Given the description of an element on the screen output the (x, y) to click on. 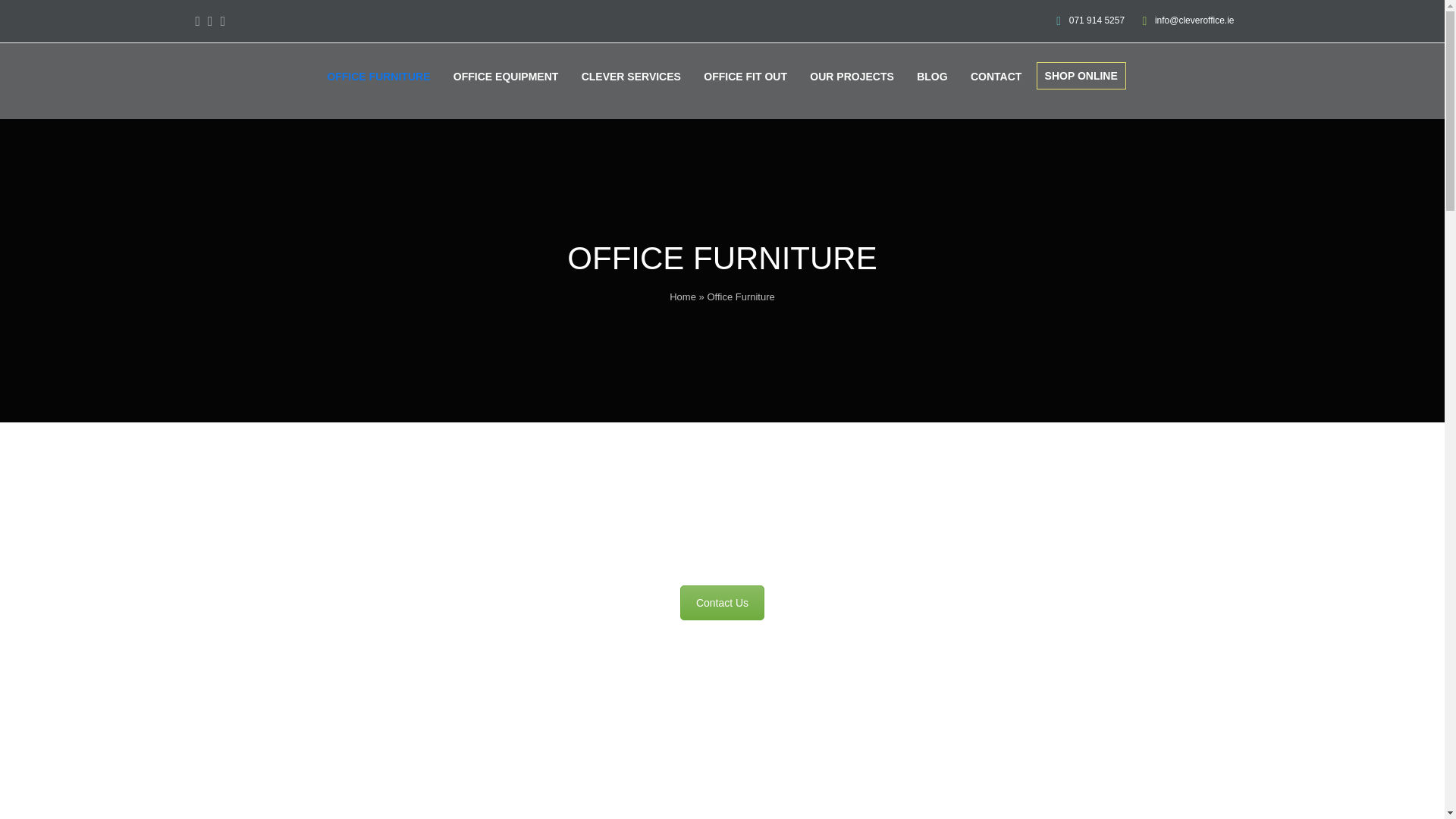
Contact Us (721, 602)
OFFICE EQUIPMENT (506, 77)
CLEVER SERVICES (631, 77)
SHOP ONLINE (1081, 77)
OUR PROJECTS (851, 77)
Home (682, 296)
Contact (721, 602)
BLOG (932, 77)
OFFICE FURNITURE (378, 77)
OFFICE FIT OUT (745, 77)
CONTACT (996, 77)
